Given the description of an element on the screen output the (x, y) to click on. 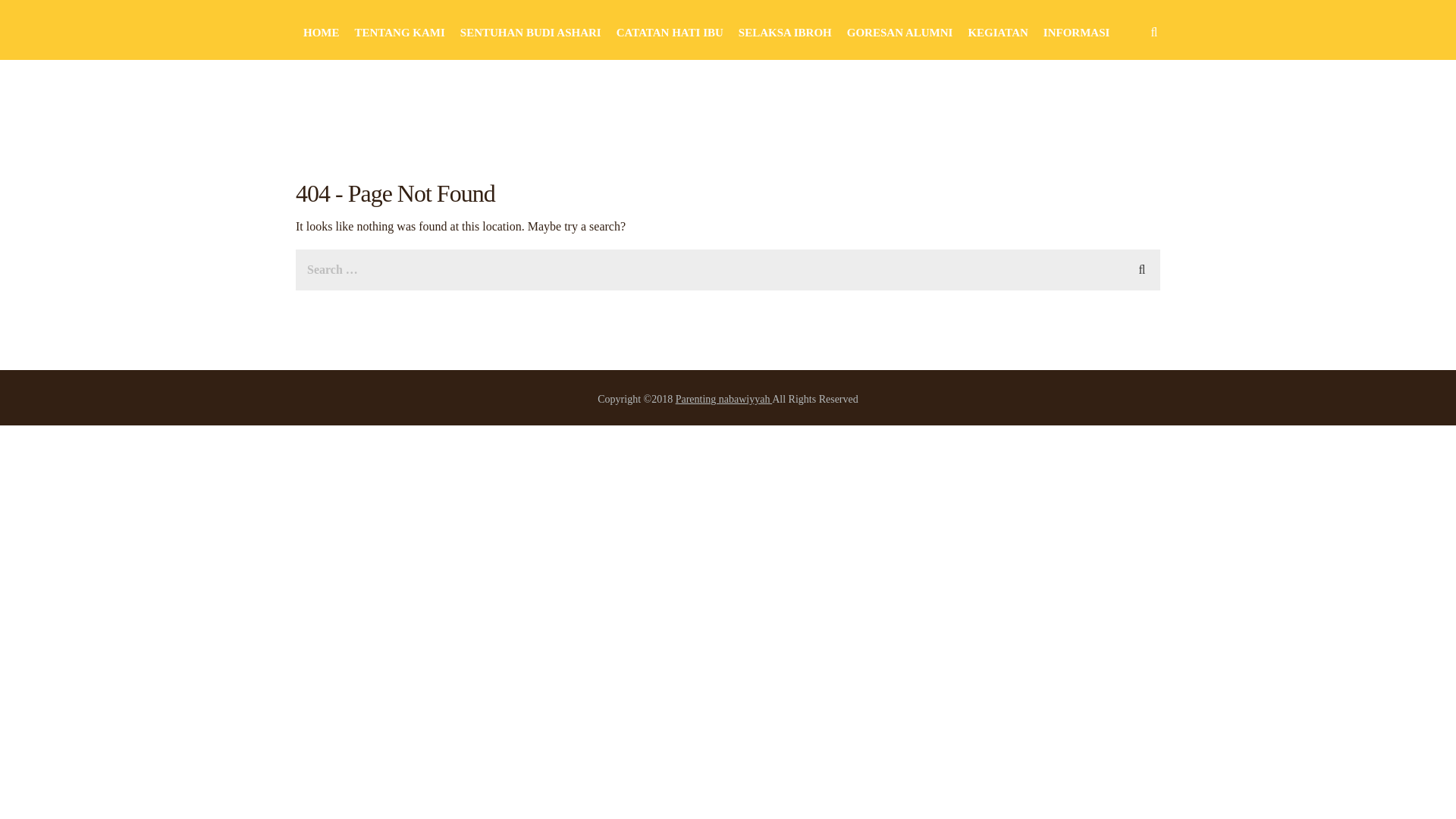
HOME (320, 32)
SELAKSA IBROH (784, 32)
GORESAN ALUMNI (900, 32)
Search (1142, 267)
CATATAN HATI IBU (669, 32)
KEGIATAN (997, 32)
SENTUHAN BUDI ASHARI (530, 32)
INFORMASI (1076, 32)
TENTANG KAMI (400, 32)
Search (1142, 267)
